Given the description of an element on the screen output the (x, y) to click on. 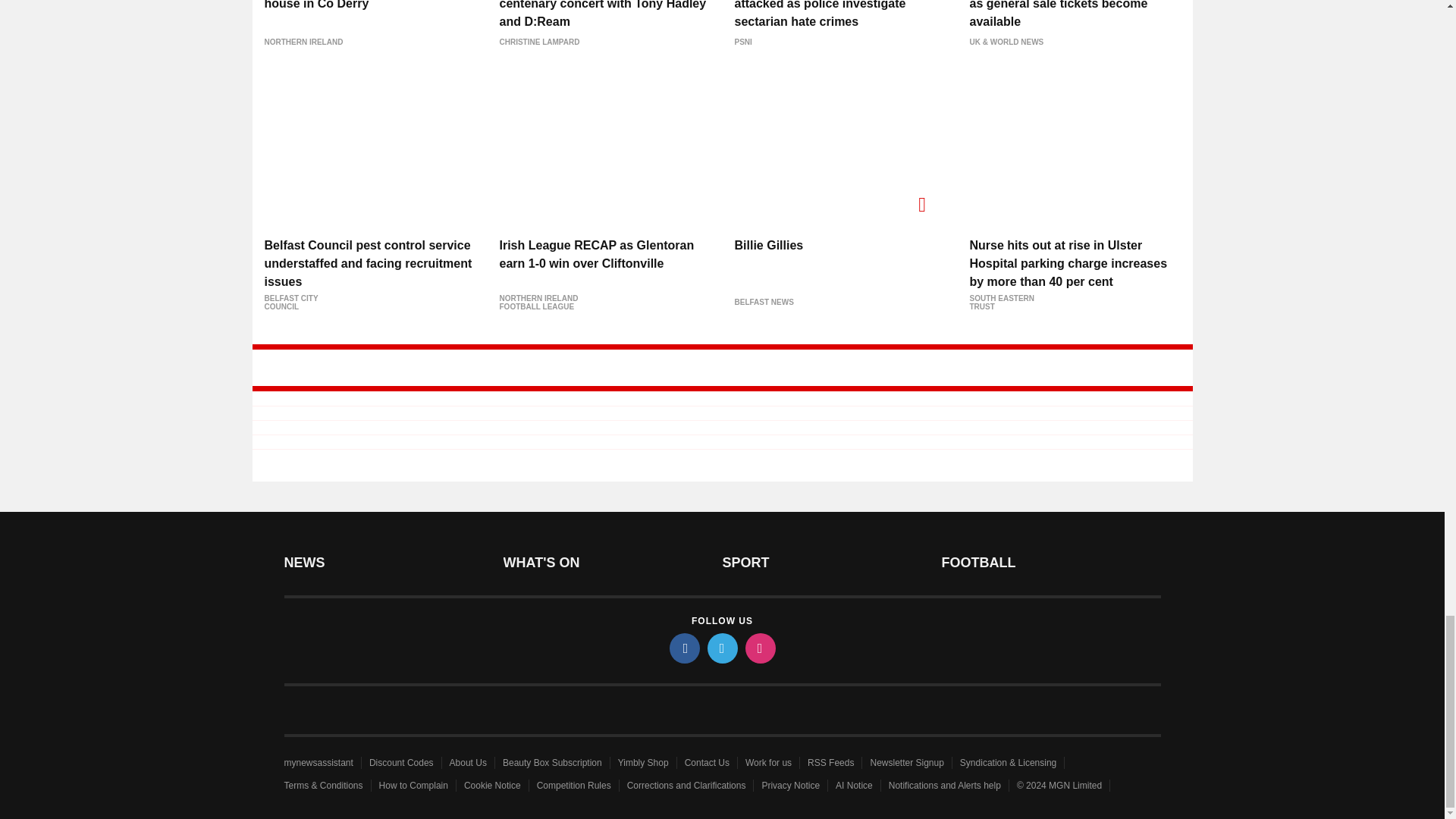
instagram (759, 648)
twitter (721, 648)
facebook (683, 648)
